Given the description of an element on the screen output the (x, y) to click on. 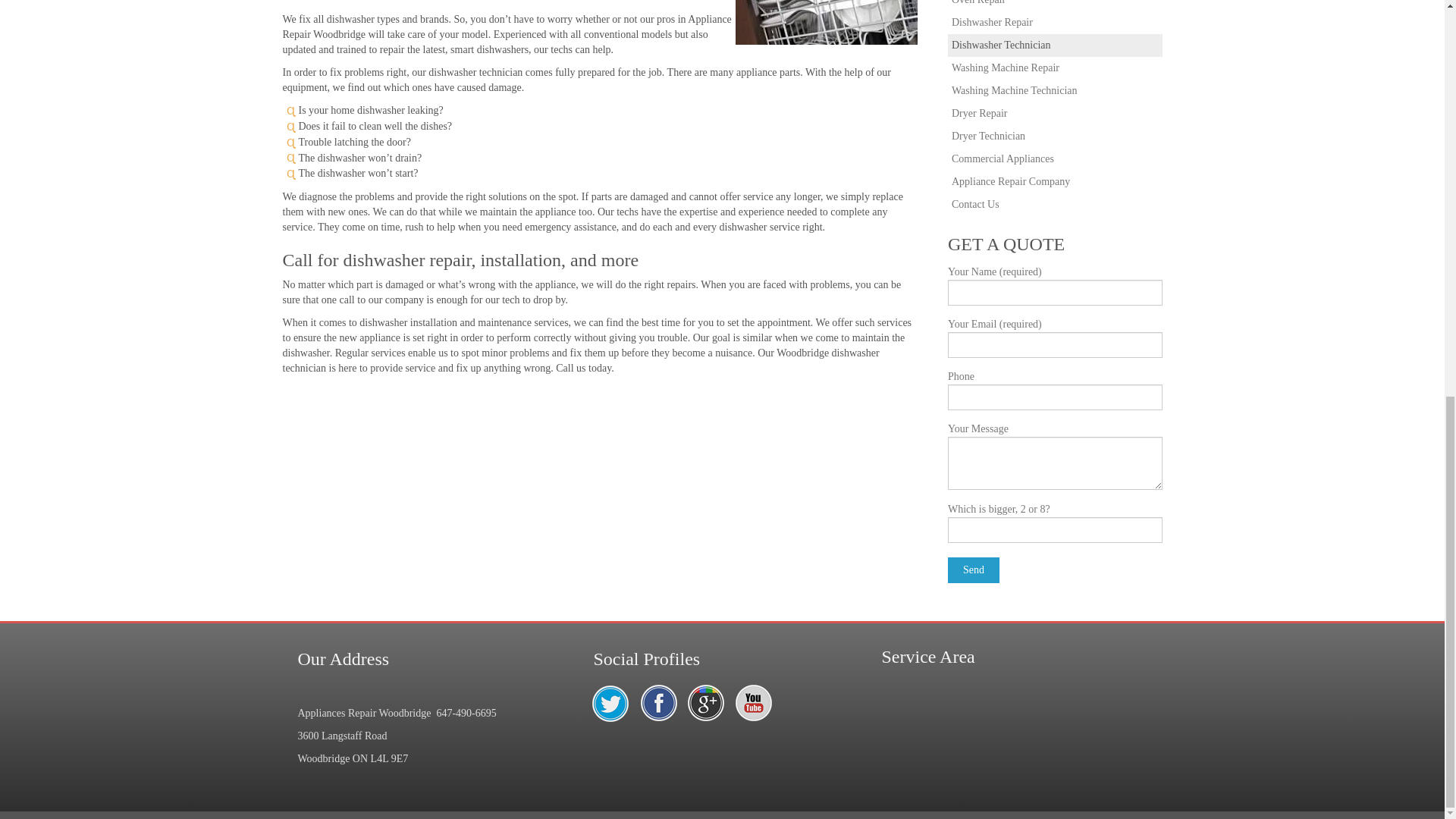
Send (972, 570)
